Given the description of an element on the screen output the (x, y) to click on. 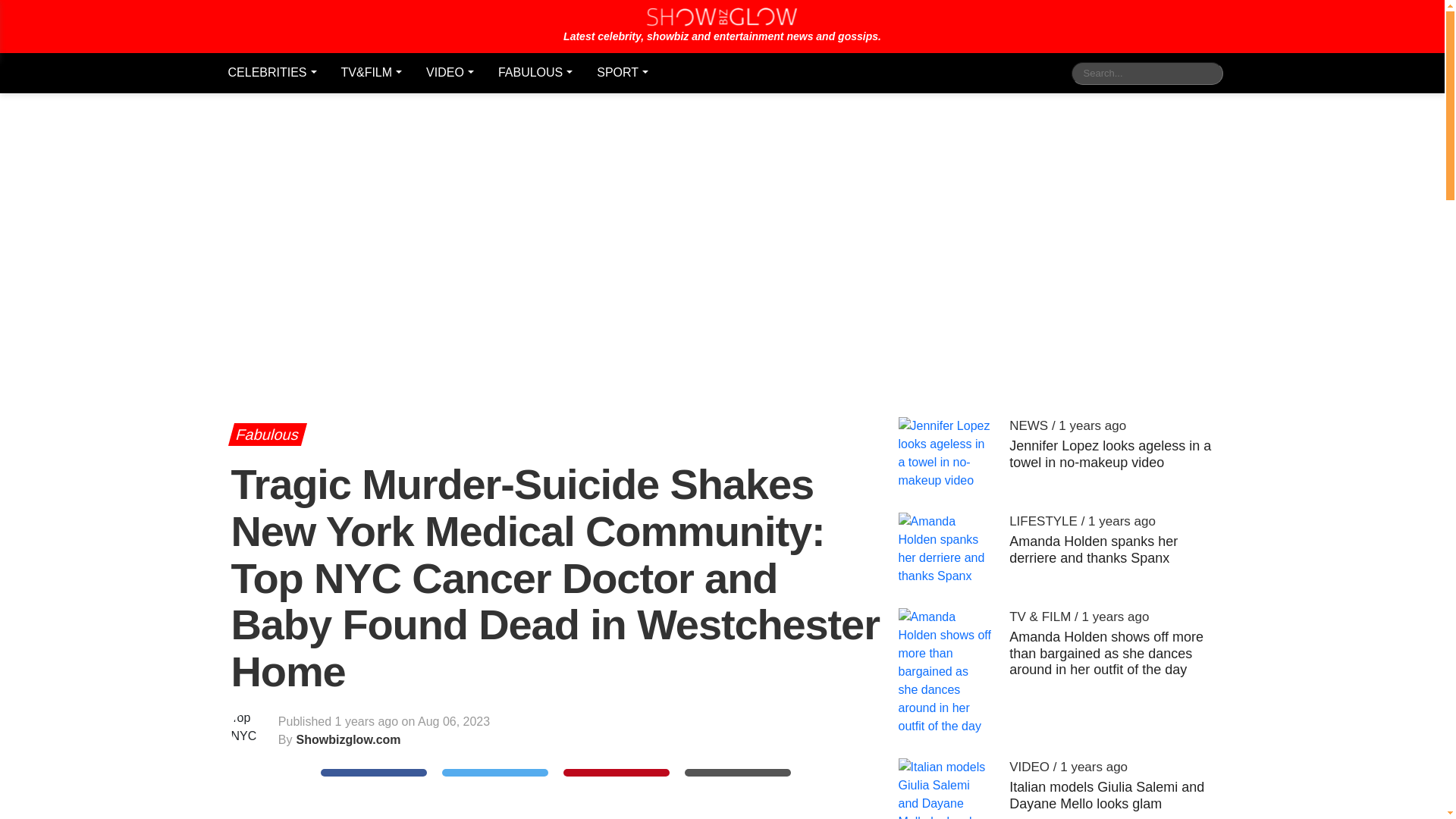
VIDEO (450, 73)
Showbizglow.com (721, 26)
FABULOUS (535, 73)
CELEBRITIES (271, 73)
CELEBRITIES (271, 73)
SPORT (622, 73)
